Given the description of an element on the screen output the (x, y) to click on. 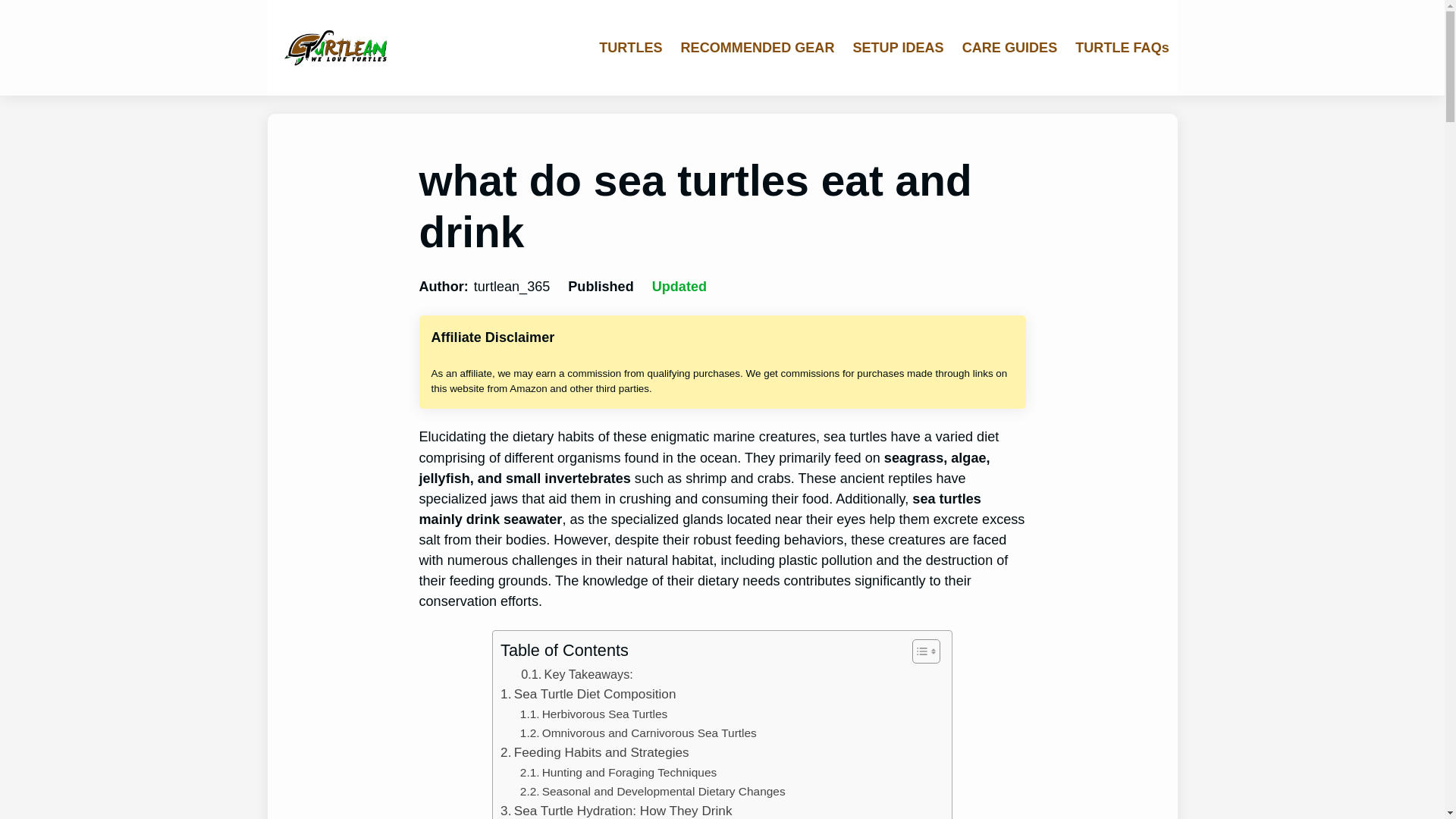
Seasonal and Developmental Dietary Changes (652, 791)
CARE GUIDES (1010, 48)
TURTLE FAQs (1122, 48)
Sea Turtle Diet Composition (587, 693)
TURTLES (630, 48)
Key Takeaways: (577, 673)
Feeding Habits and Strategies (594, 752)
Sea Turtle Hydration: How They Drink (616, 809)
Herbivorous Sea Turtles (592, 714)
Sea Turtle Hydration: How They Drink (616, 809)
Feeding Habits and Strategies (594, 752)
Omnivorous and Carnivorous Sea Turtles (638, 732)
Omnivorous and Carnivorous Sea Turtles (638, 732)
Key Takeaways: (577, 673)
SETUP IDEAS (897, 48)
